Given the description of an element on the screen output the (x, y) to click on. 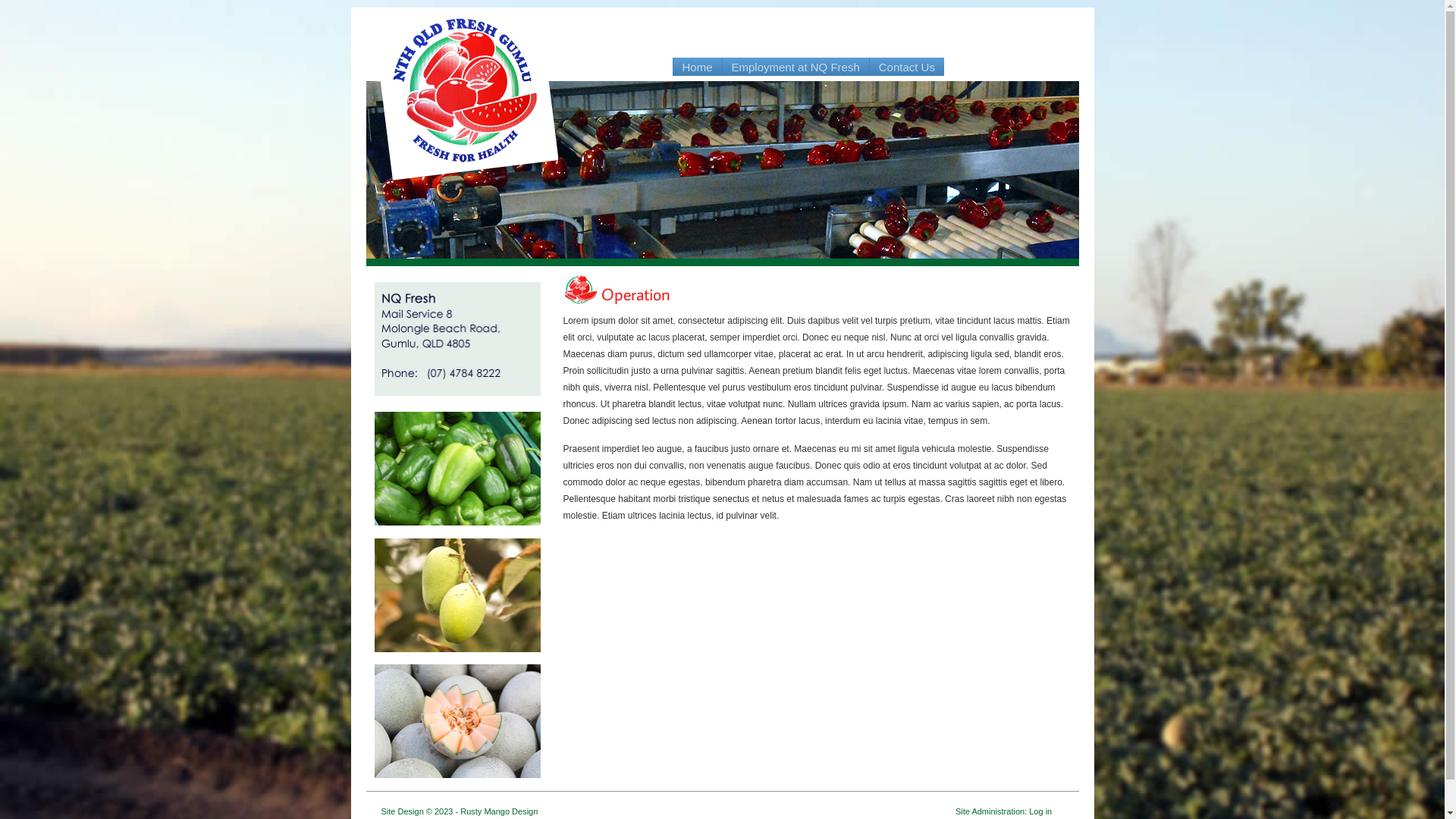
Home Element type: text (697, 66)
Log in Element type: text (1040, 810)
Employment at NQ Fresh Element type: text (795, 66)
Rusty Mango Design Element type: text (498, 810)
Contact Us Element type: text (906, 66)
